Given the description of an element on the screen output the (x, y) to click on. 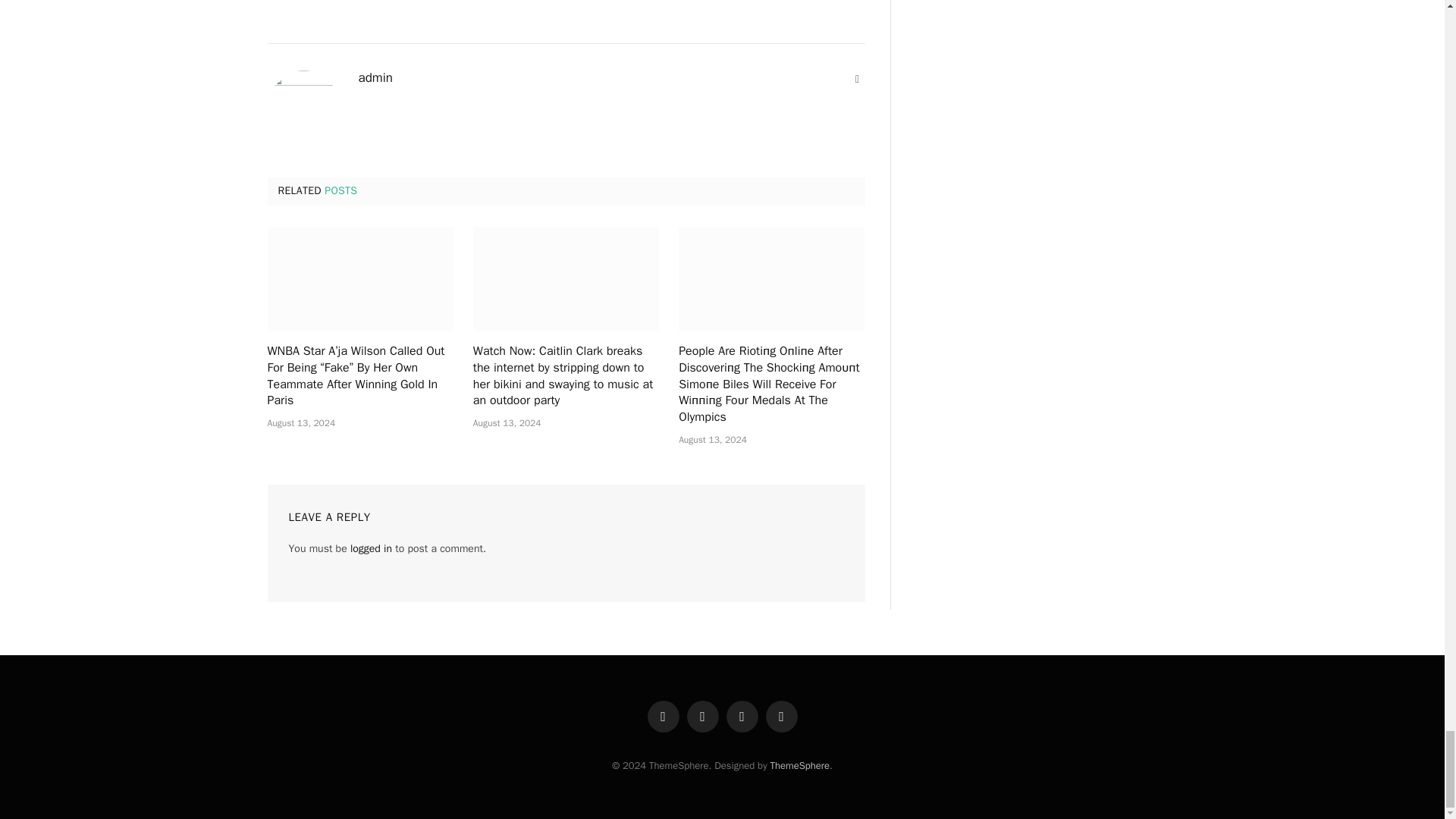
Pinterest (781, 716)
Website (856, 79)
Instagram (742, 716)
logged in (370, 548)
Posts by admin (375, 77)
Website (856, 79)
ThemeSphere (799, 765)
admin (375, 77)
